Given the description of an element on the screen output the (x, y) to click on. 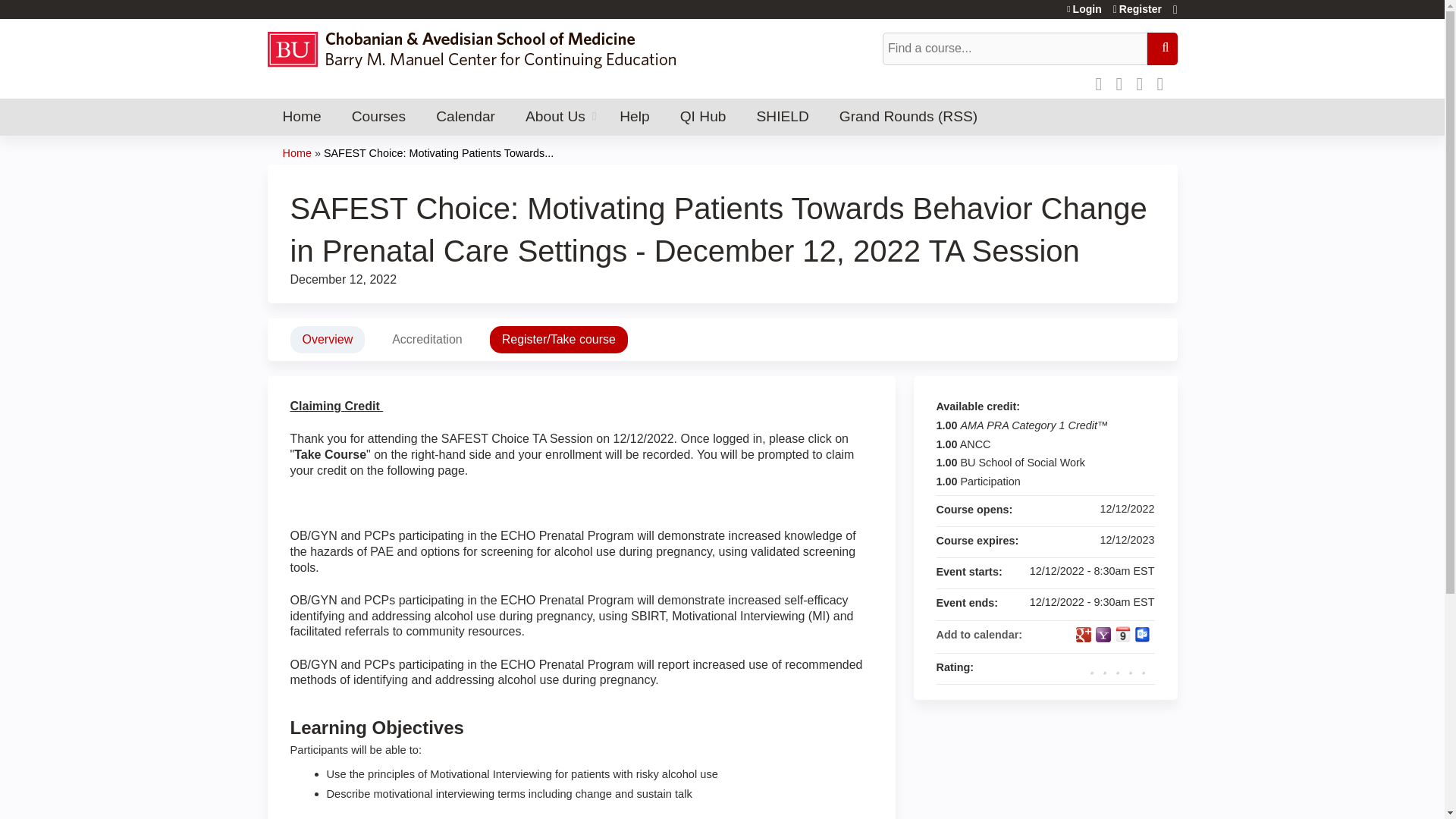
Yahoo calendar (1101, 634)
About Us (557, 116)
Publish this post to LinkedIn (1143, 81)
Search (1161, 48)
Share this on Twitter (1123, 81)
Login (1083, 9)
Share on Facebook (1101, 81)
Home (301, 116)
Outlook (1142, 634)
Home (477, 49)
Send to a friend (1164, 81)
iCal (1122, 633)
Google calendar (1082, 634)
Forward (1164, 81)
List of all courses (378, 116)
